Given the description of an element on the screen output the (x, y) to click on. 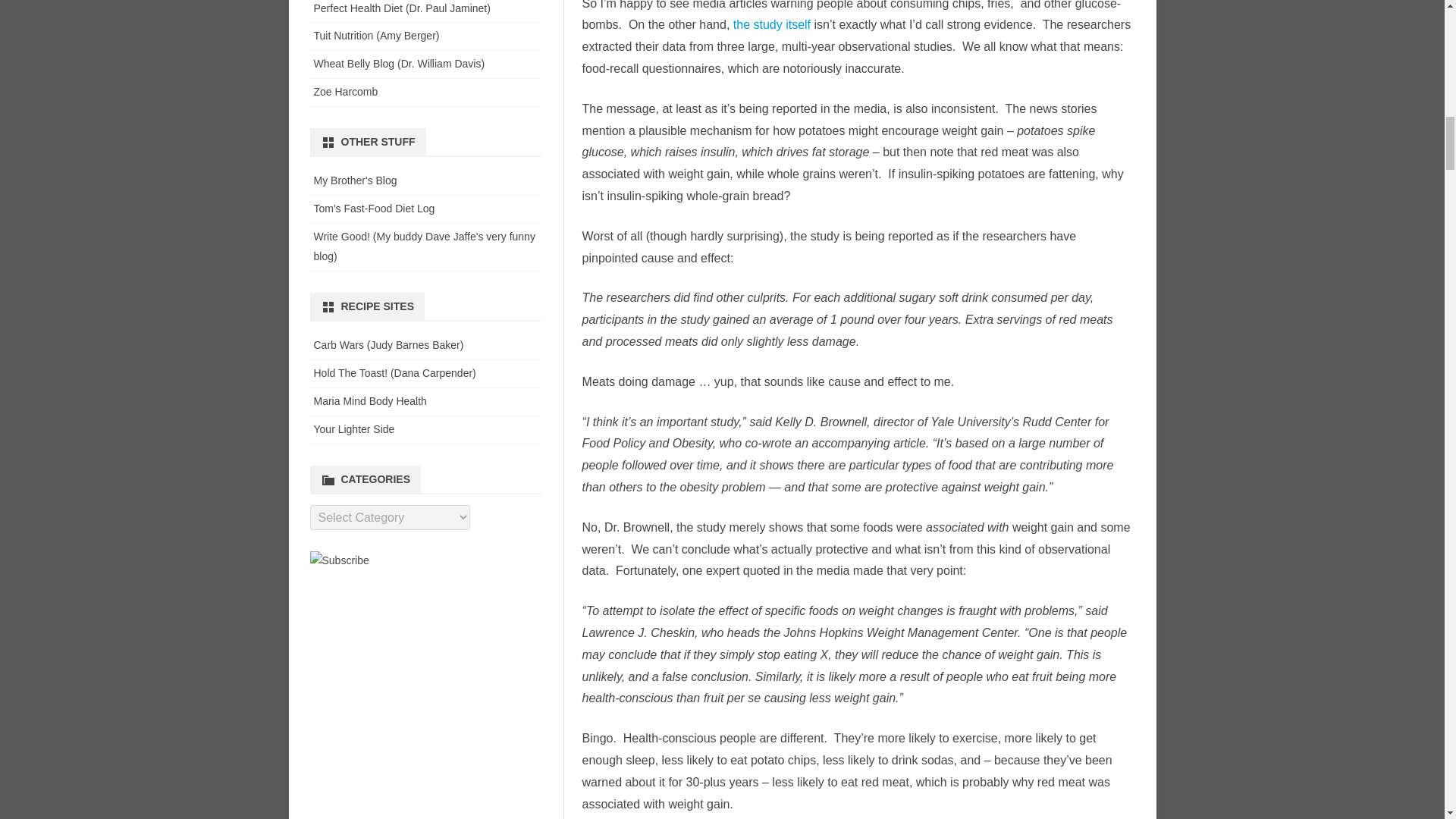
the study itself (771, 24)
